Given the description of an element on the screen output the (x, y) to click on. 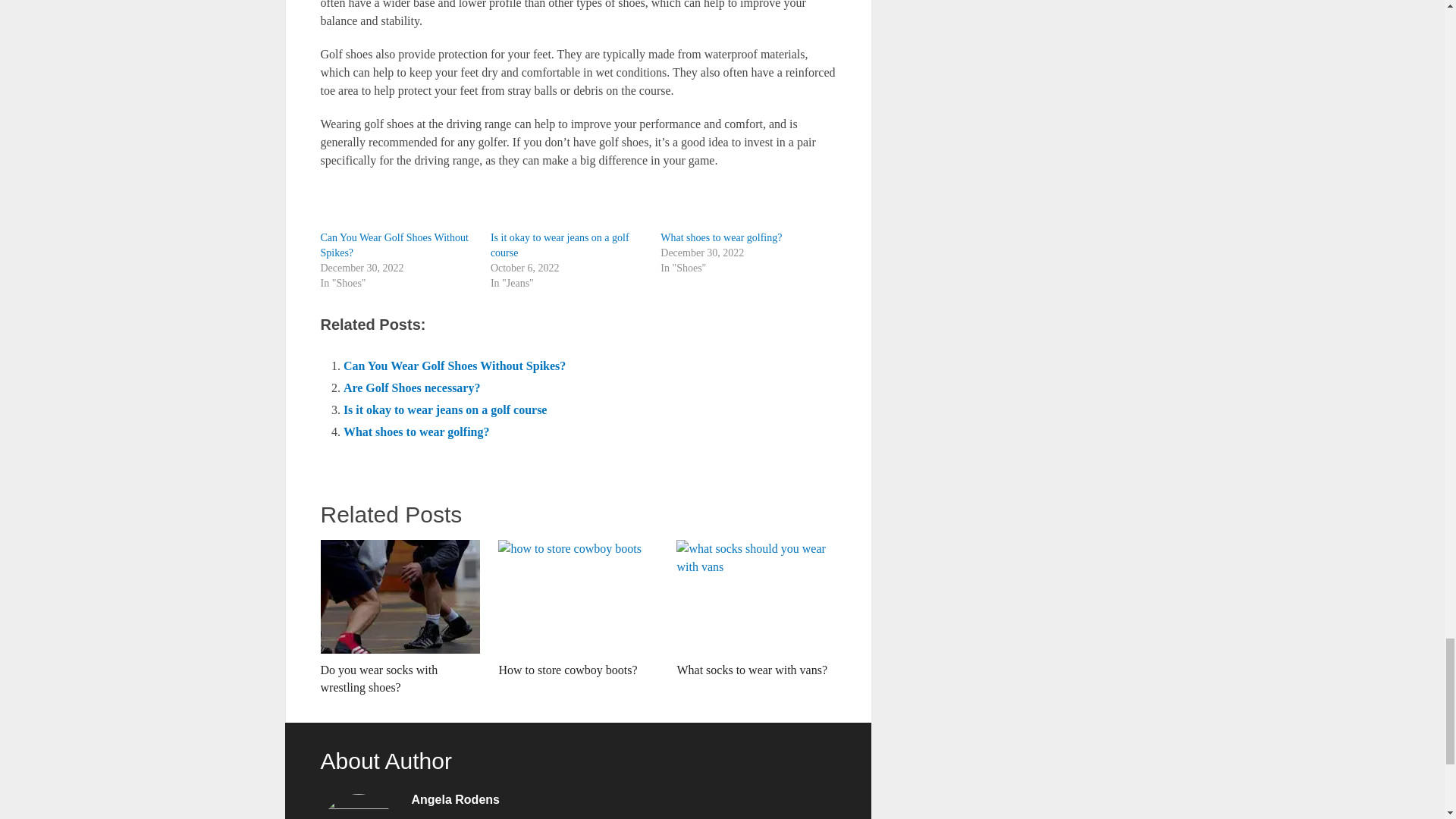
Do you wear socks with wrestling shoes? (399, 617)
Are Golf Shoes necessary? (411, 387)
What shoes to wear golfing? (721, 237)
Can You Wear Golf Shoes Without Spikes? (393, 244)
Can You Wear Golf Shoes Without Spikes? (454, 365)
How to store cowboy boots? (577, 608)
What shoes to wear golfing? (721, 237)
Is it okay to wear jeans on a golf course (559, 244)
What socks to wear with vans? (756, 608)
Can You Wear Golf Shoes Without Spikes? (454, 365)
